Given the description of an element on the screen output the (x, y) to click on. 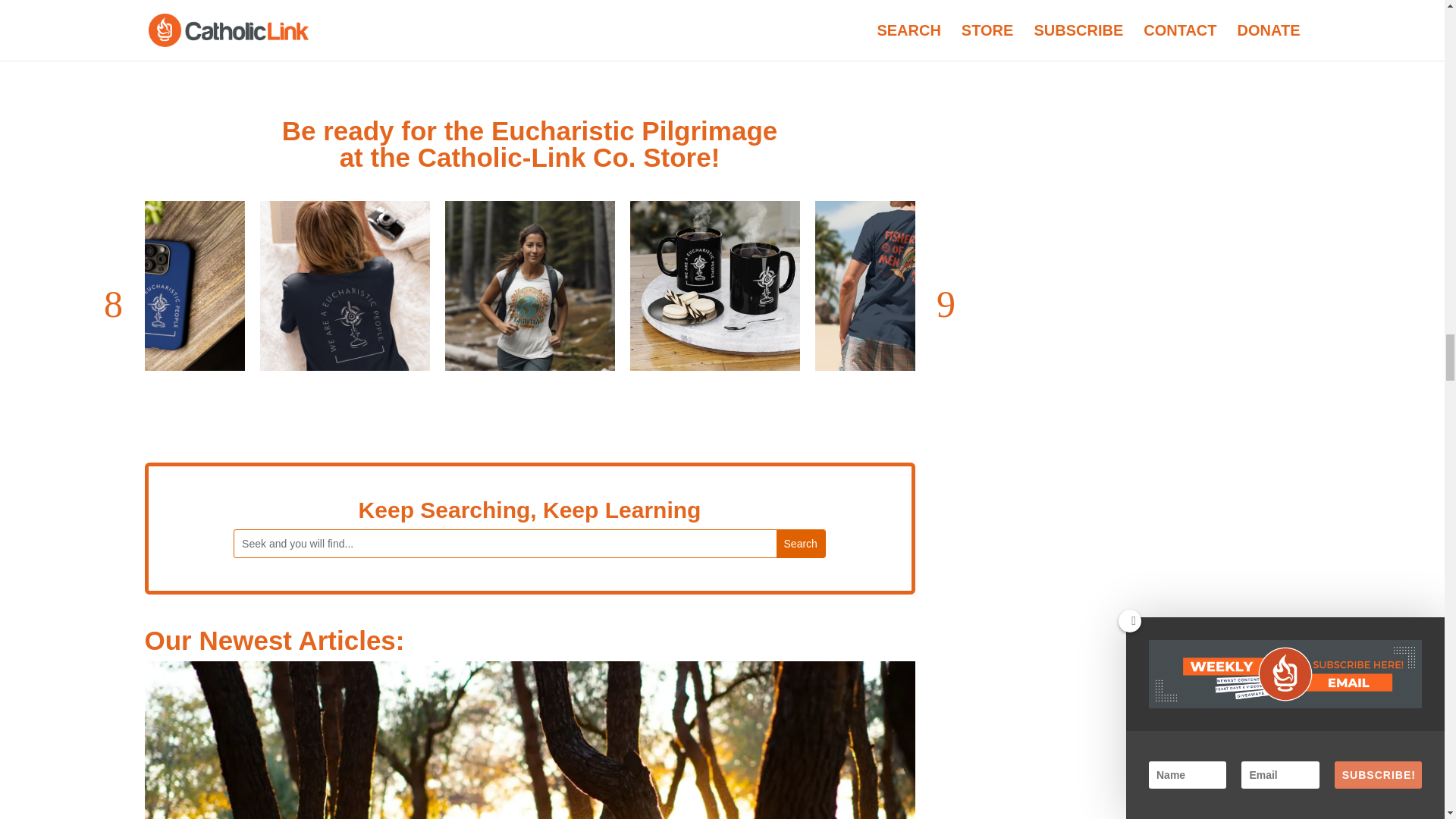
Search (800, 543)
Search (800, 543)
